Given the description of an element on the screen output the (x, y) to click on. 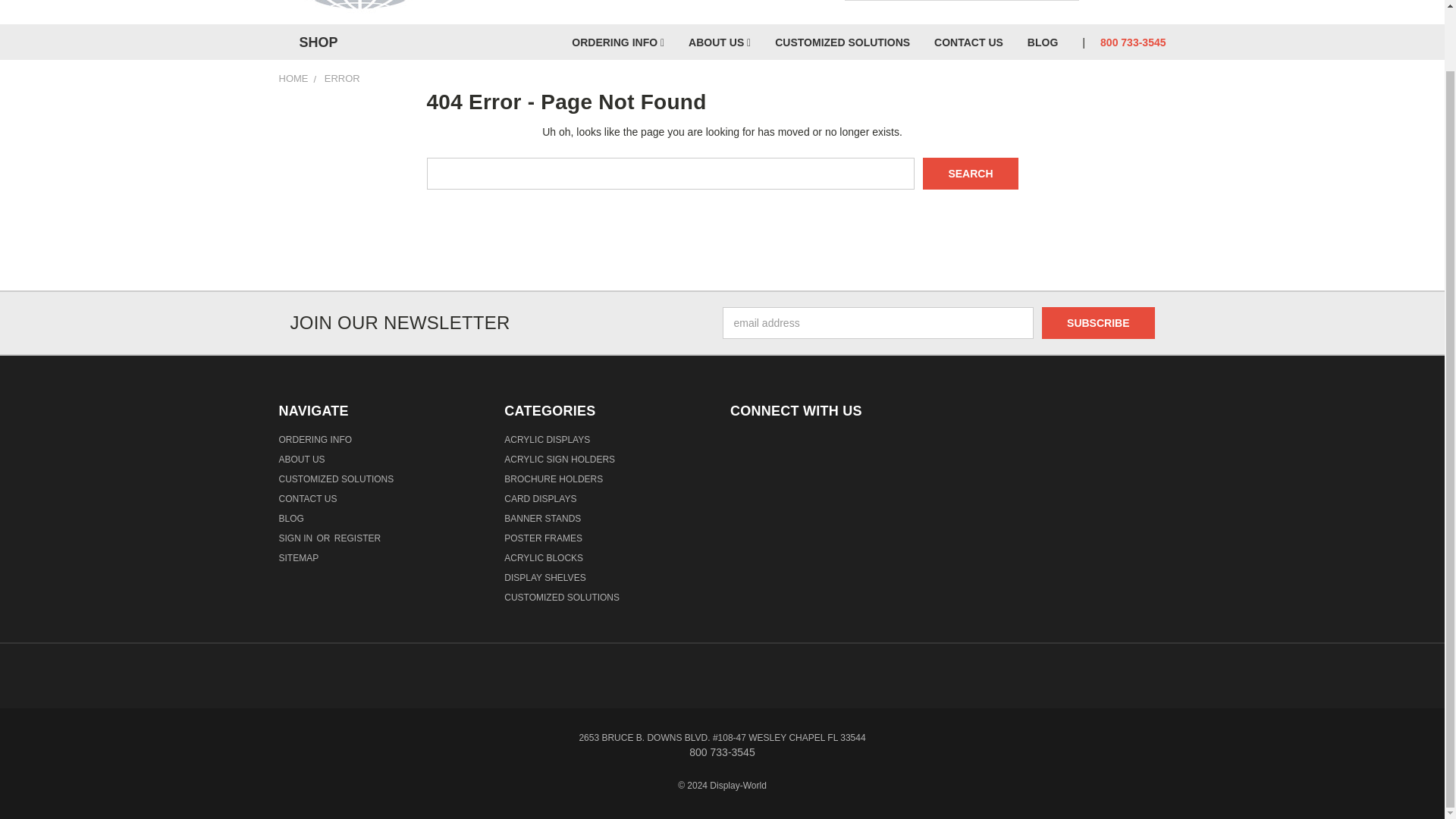
Display-World (359, 8)
SHOP (314, 42)
Search (970, 173)
Subscribe (1098, 323)
